Given the description of an element on the screen output the (x, y) to click on. 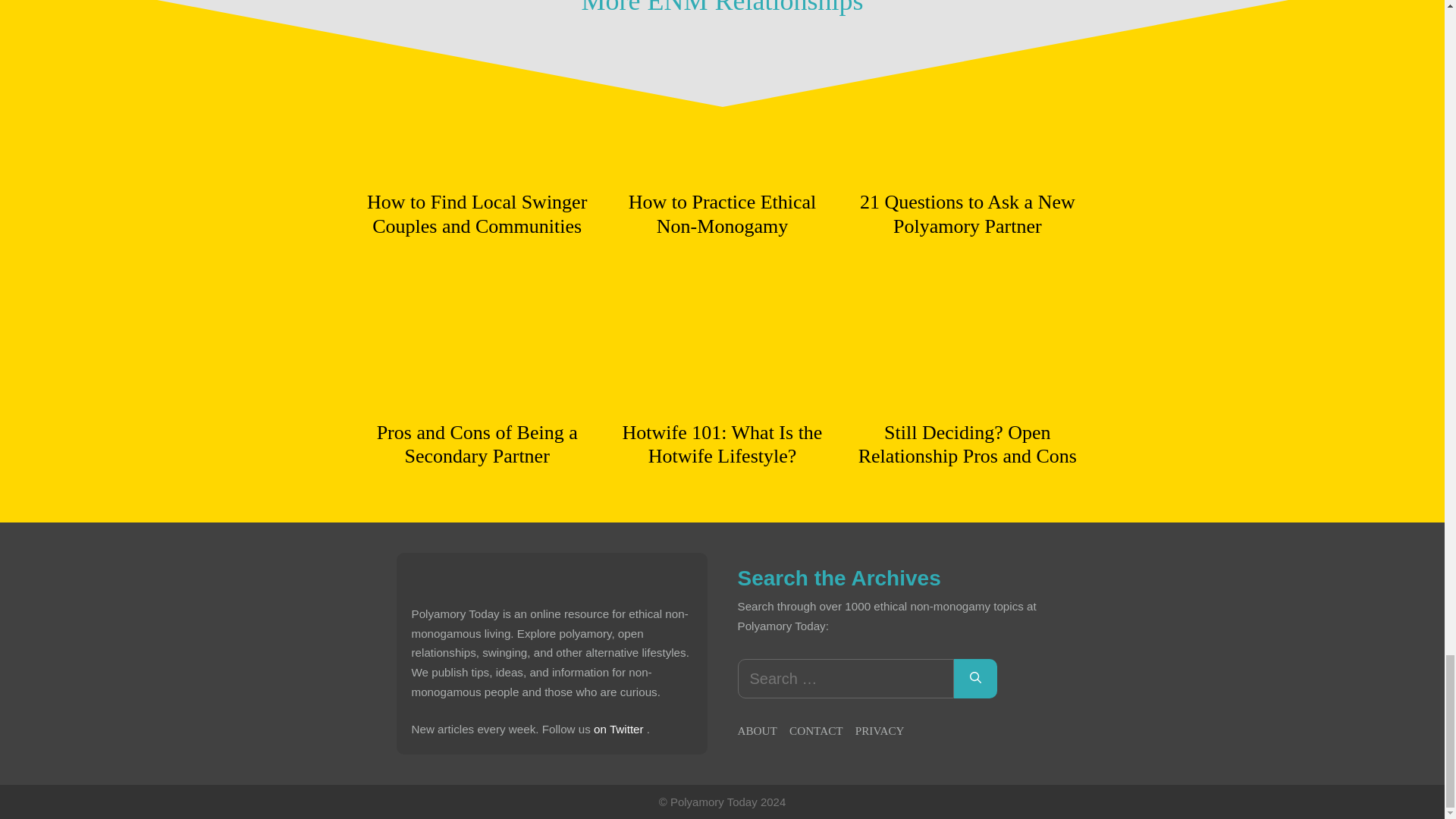
How to Find Local Swinger Couples and Communities (476, 169)
How to Find Local Swinger Couples and Communities (476, 213)
How to Practice Ethical Non-Monogamy (721, 213)
Pros and Cons of Being a Secondary Partner (476, 443)
21 Questions to Ask a New Polyamory Partner (967, 213)
